Given the description of an element on the screen output the (x, y) to click on. 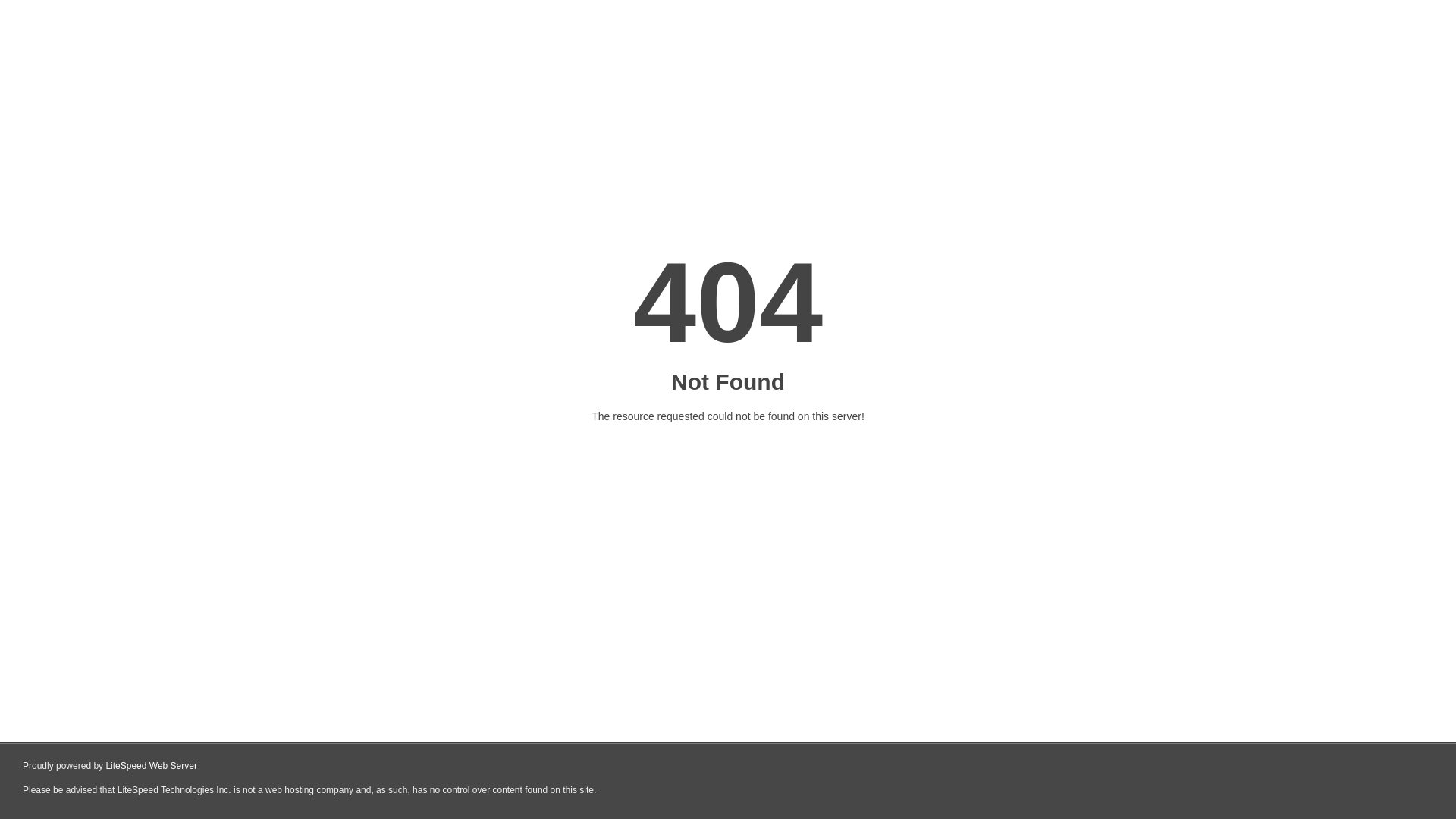
LiteSpeed Web Server Element type: text (151, 765)
